Given the description of an element on the screen output the (x, y) to click on. 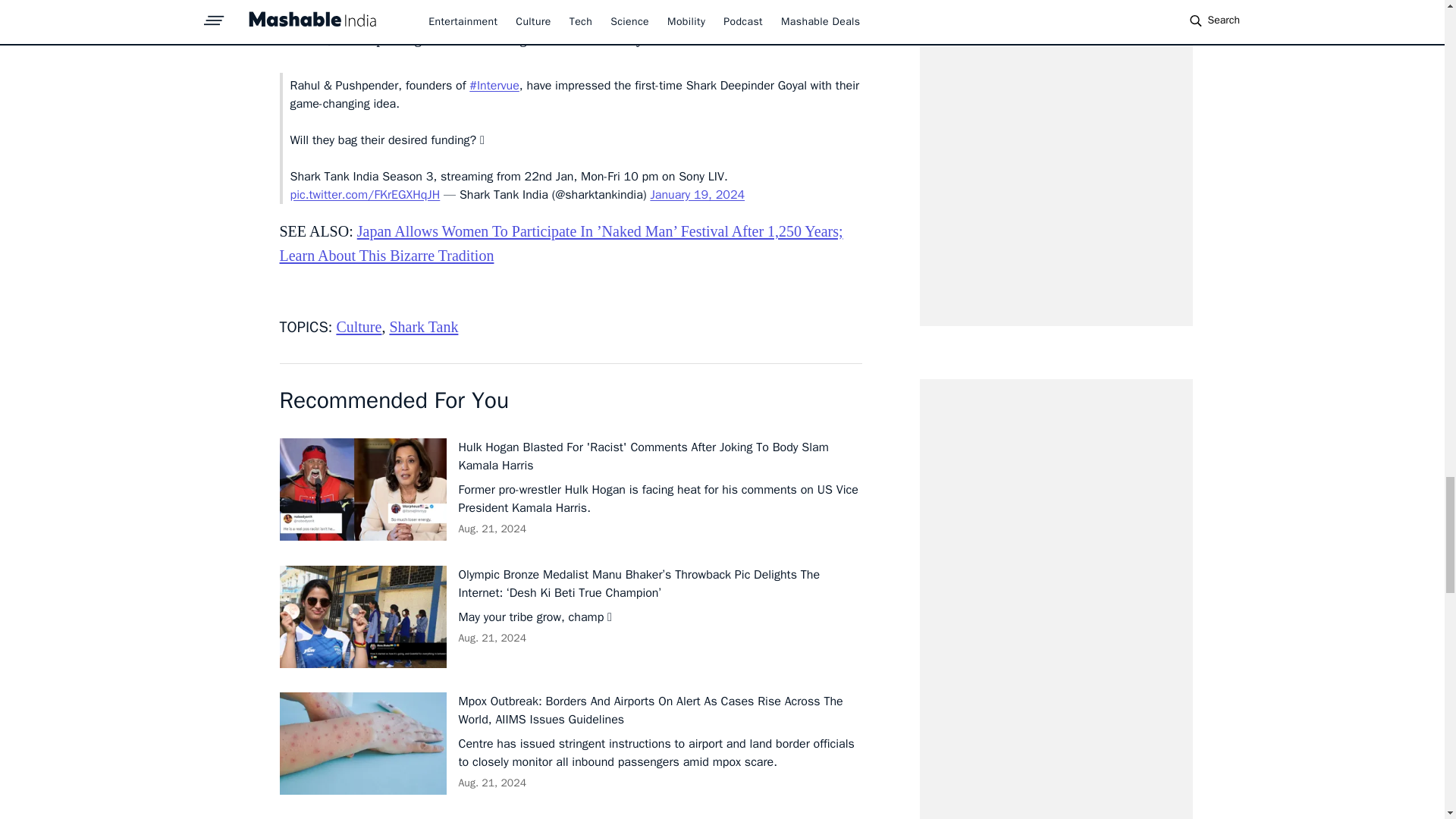
January 19, 2024 (696, 194)
Culture (358, 326)
Shark Tank (423, 326)
